Given the description of an element on the screen output the (x, y) to click on. 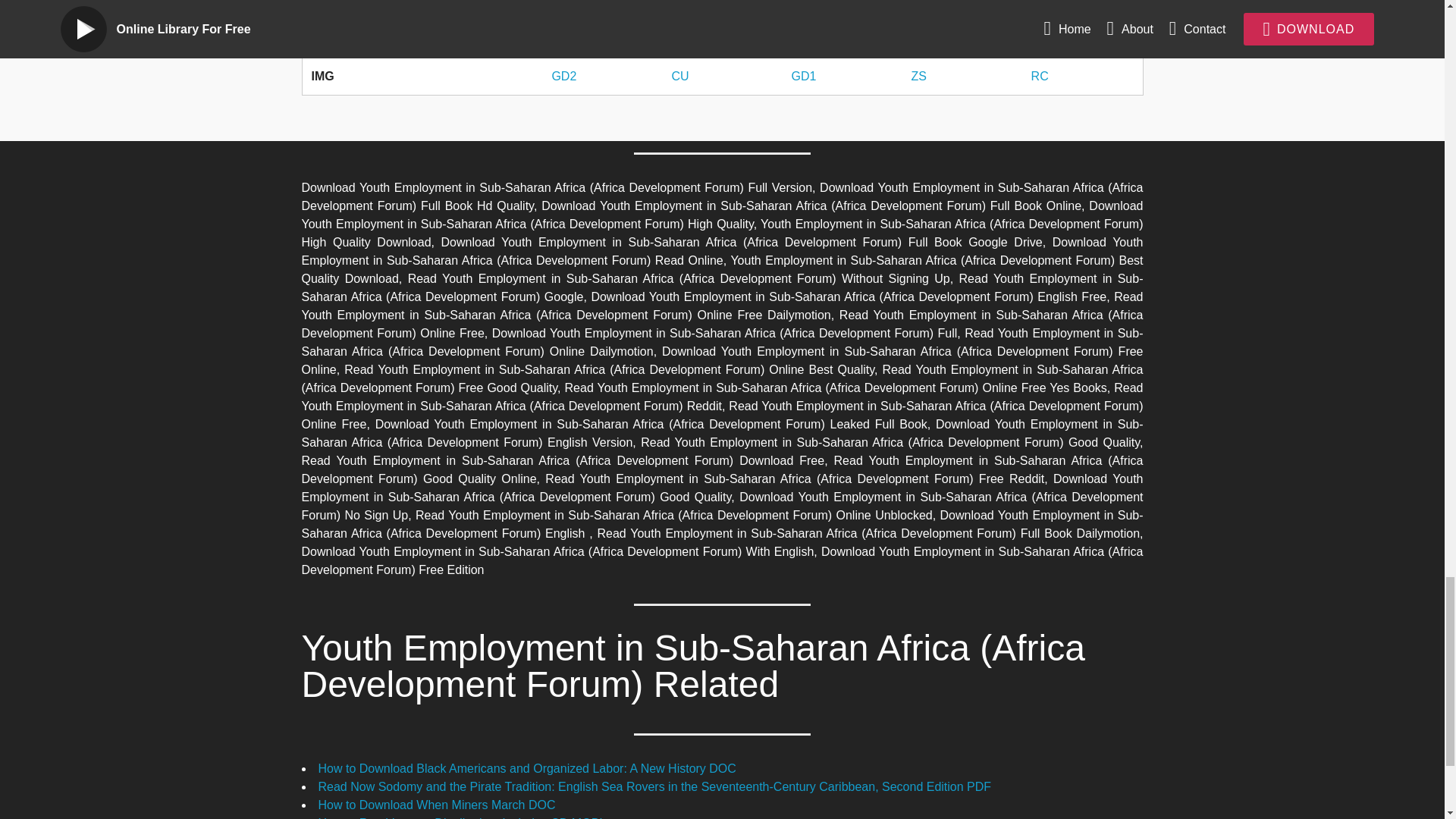
GD1 (802, 4)
GD2 (563, 4)
CU (679, 4)
